Given the description of an element on the screen output the (x, y) to click on. 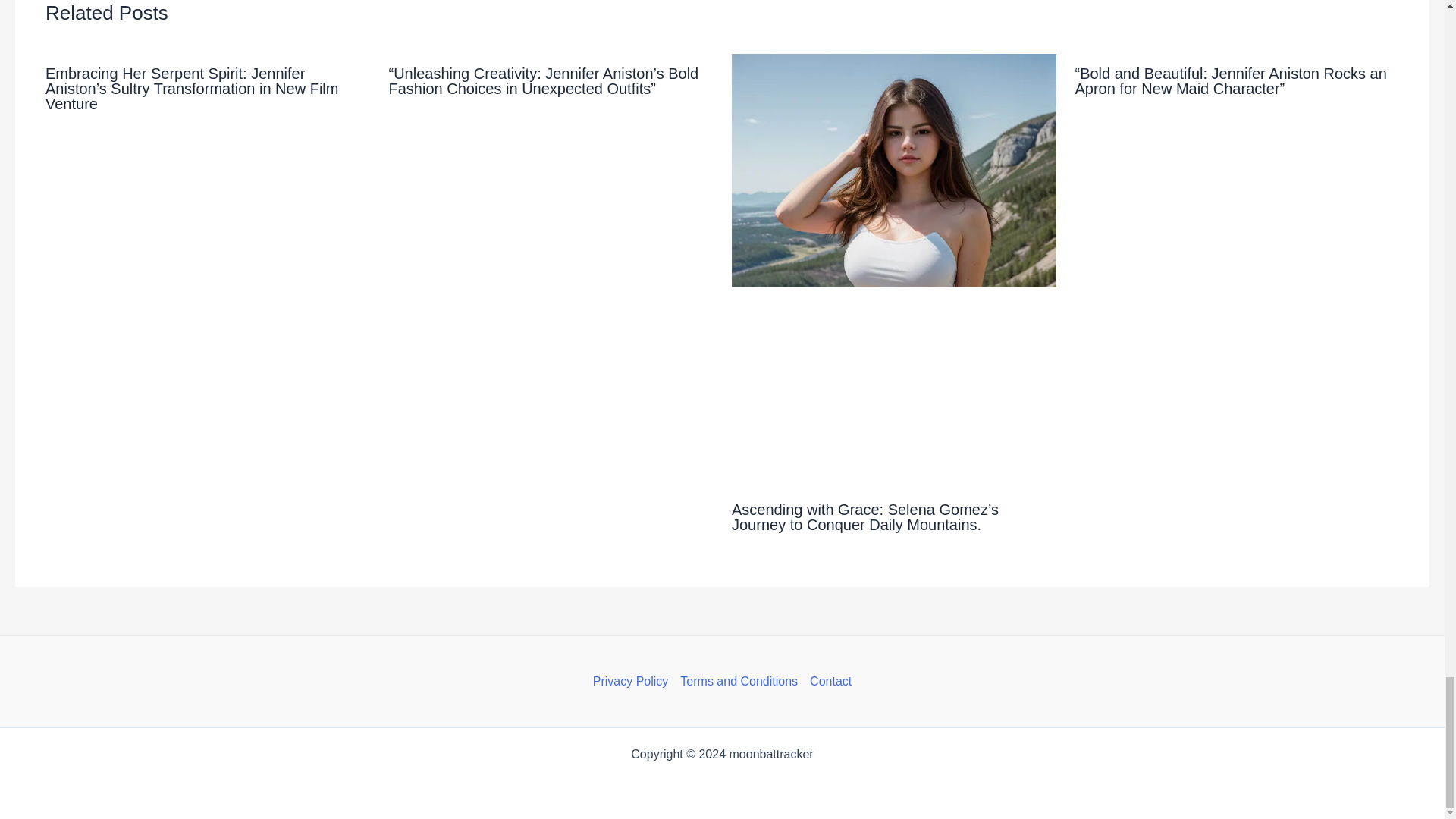
Contact (827, 681)
Privacy Policy (633, 681)
Terms and Conditions (738, 681)
